Given the description of an element on the screen output the (x, y) to click on. 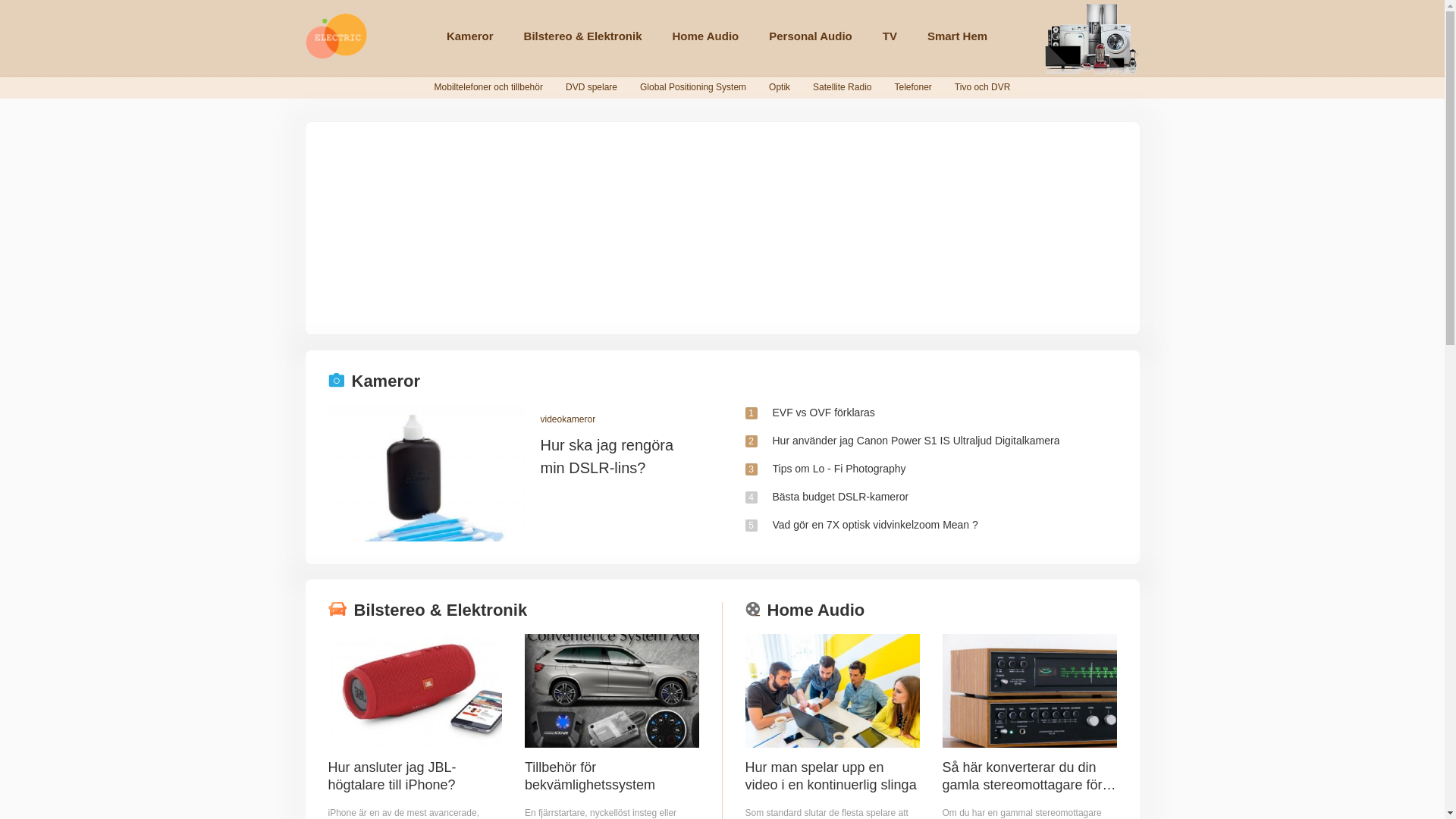
Personal Audio Element type: text (809, 36)
Tivo och DVR Element type: text (982, 86)
Hur man spelar upp en video i en kontinuerlig slinga Element type: text (831, 776)
Home Audio Element type: text (930, 610)
Tips om Lo - Fi Photography Element type: text (838, 469)
Satellite Radio Element type: text (841, 86)
TV Element type: text (889, 36)
Smart Hem Element type: text (957, 36)
videokameror Element type: text (619, 419)
Bilstereo & Elektronik Element type: text (582, 36)
Advertisement Element type: hover (721, 228)
Bilstereo & Elektronik Element type: text (512, 610)
Optik Element type: text (779, 86)
Kameror Element type: text (469, 36)
Global Positioning System Element type: text (692, 86)
Telefoner Element type: text (912, 86)
DVD spelare Element type: text (591, 86)
Kameror Element type: text (721, 381)
Home Audio Element type: text (704, 36)
